Given the description of an element on the screen output the (x, y) to click on. 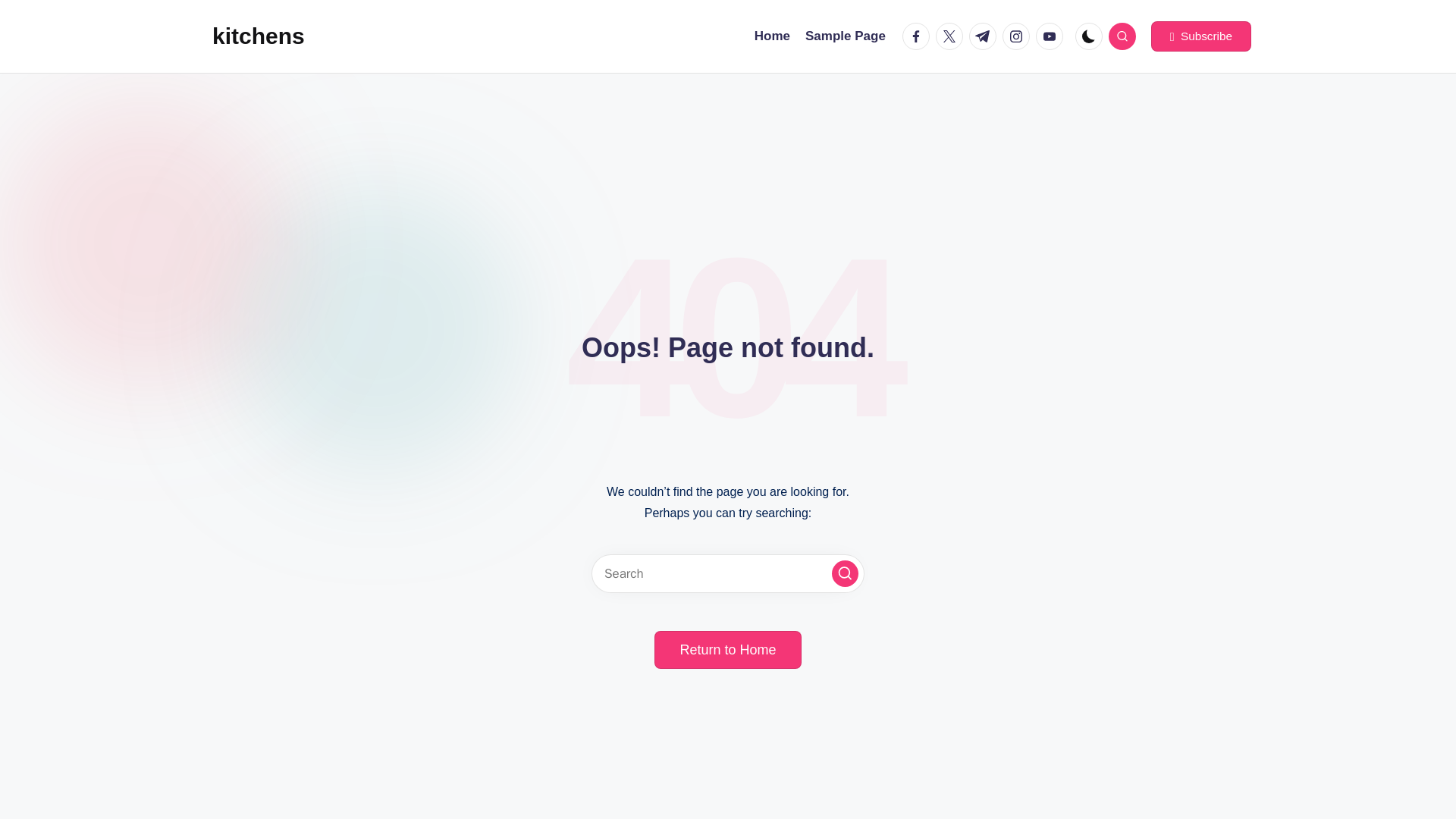
kitchens (258, 36)
twitter.com (952, 35)
t.me (986, 35)
Subscribe (1200, 36)
facebook.com (919, 35)
instagram.com (1019, 35)
Sample Page (845, 36)
Return to Home (726, 649)
Home (772, 36)
youtube.com (1051, 35)
